Given the description of an element on the screen output the (x, y) to click on. 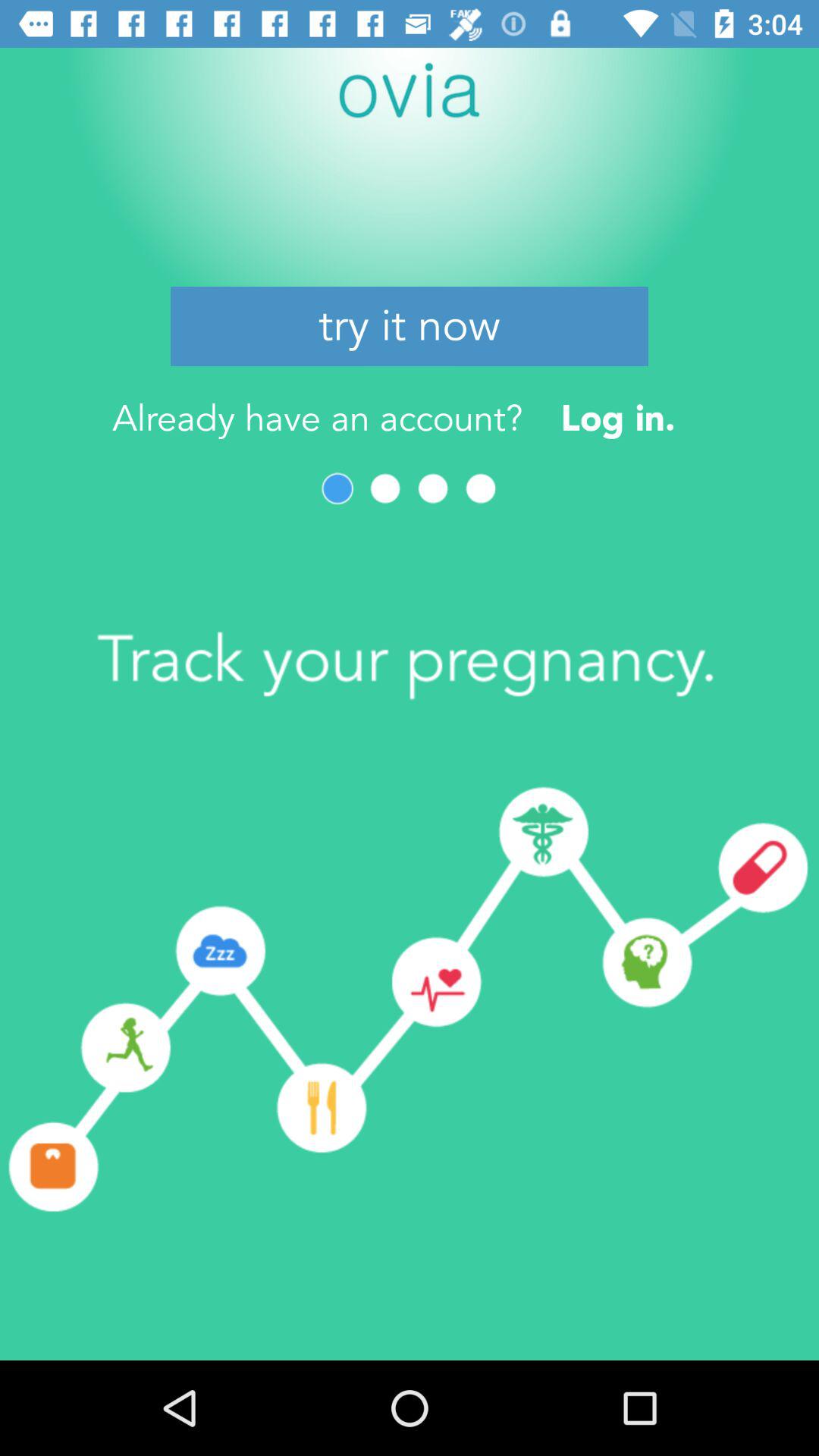
go to screen 4 (481, 488)
